Given the description of an element on the screen output the (x, y) to click on. 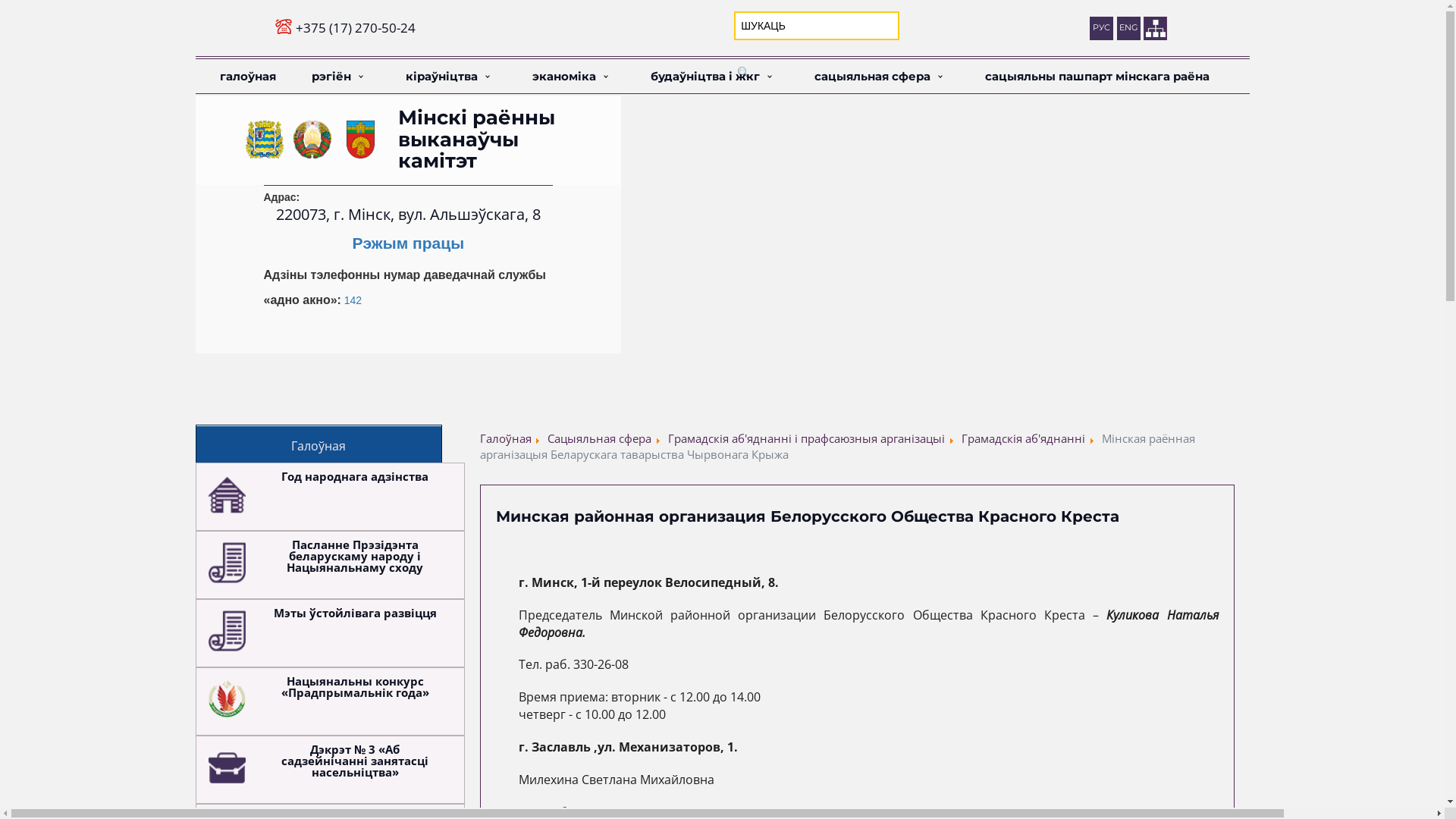
142 Element type: text (352, 300)
+375 (17) 270-50-24 Element type: text (355, 27)
ENG Element type: text (1128, 28)
